Given the description of an element on the screen output the (x, y) to click on. 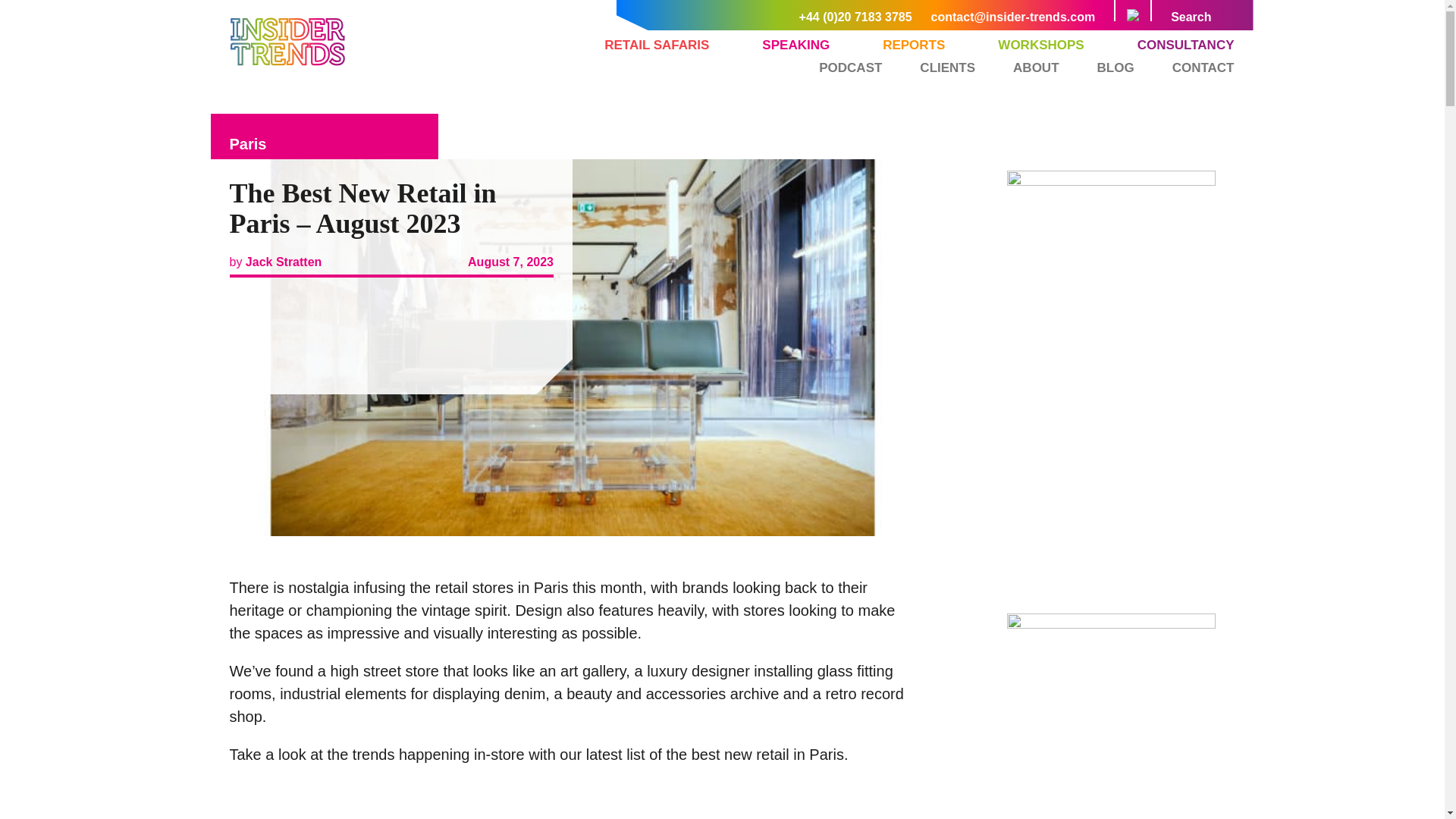
REPORTS (913, 45)
CLIENTS (947, 67)
RETAIL SAFARIS (656, 45)
SPEAKING (795, 45)
ABOUT (1035, 67)
PODCAST (850, 67)
Insider Trends (286, 62)
CONTACT (1203, 67)
BLOG (1115, 67)
WORKSHOPS (1040, 45)
CONSULTANCY (1185, 45)
